Given the description of an element on the screen output the (x, y) to click on. 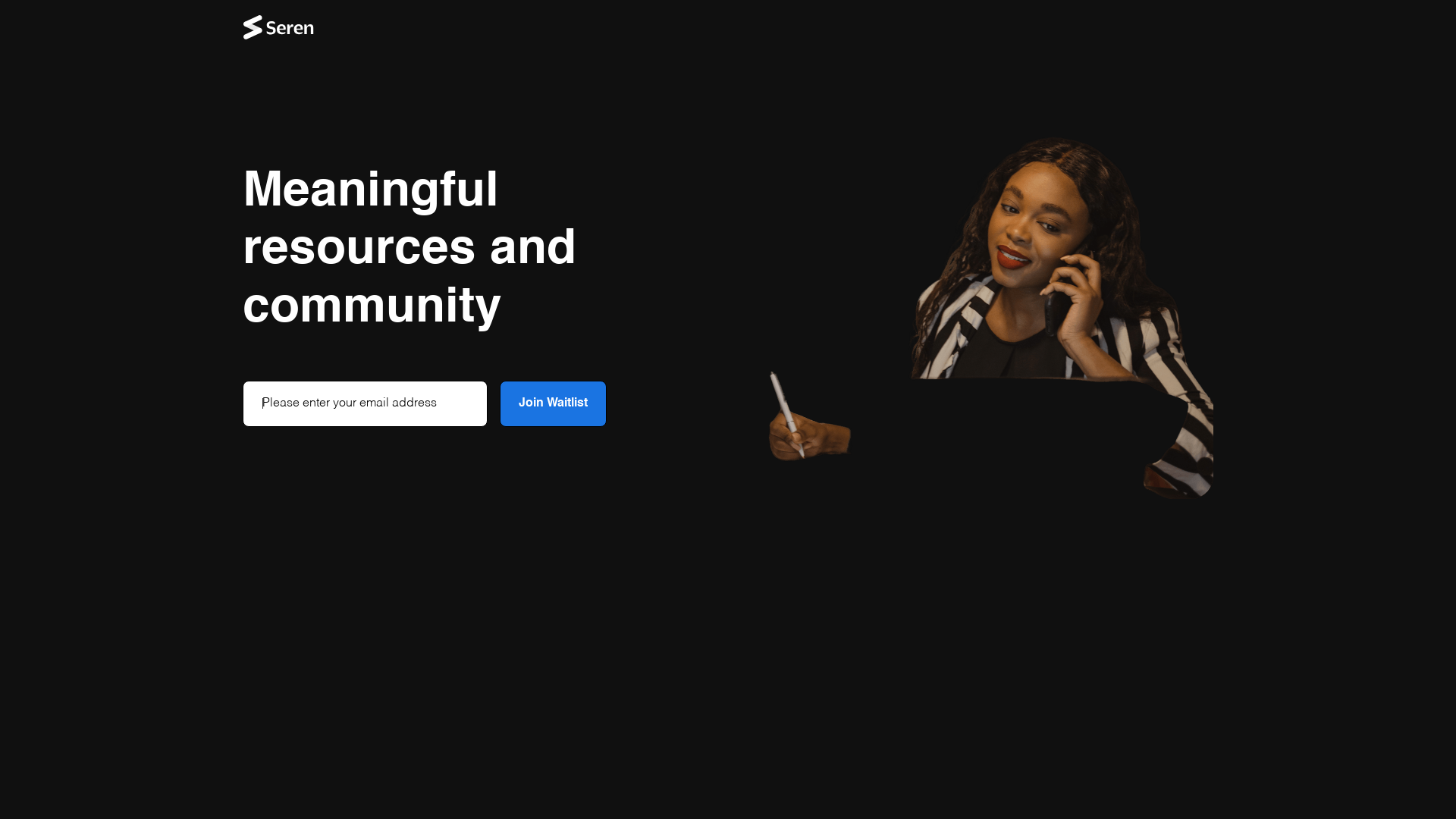
Join Waitlist Element type: text (552, 403)
